Given the description of an element on the screen output the (x, y) to click on. 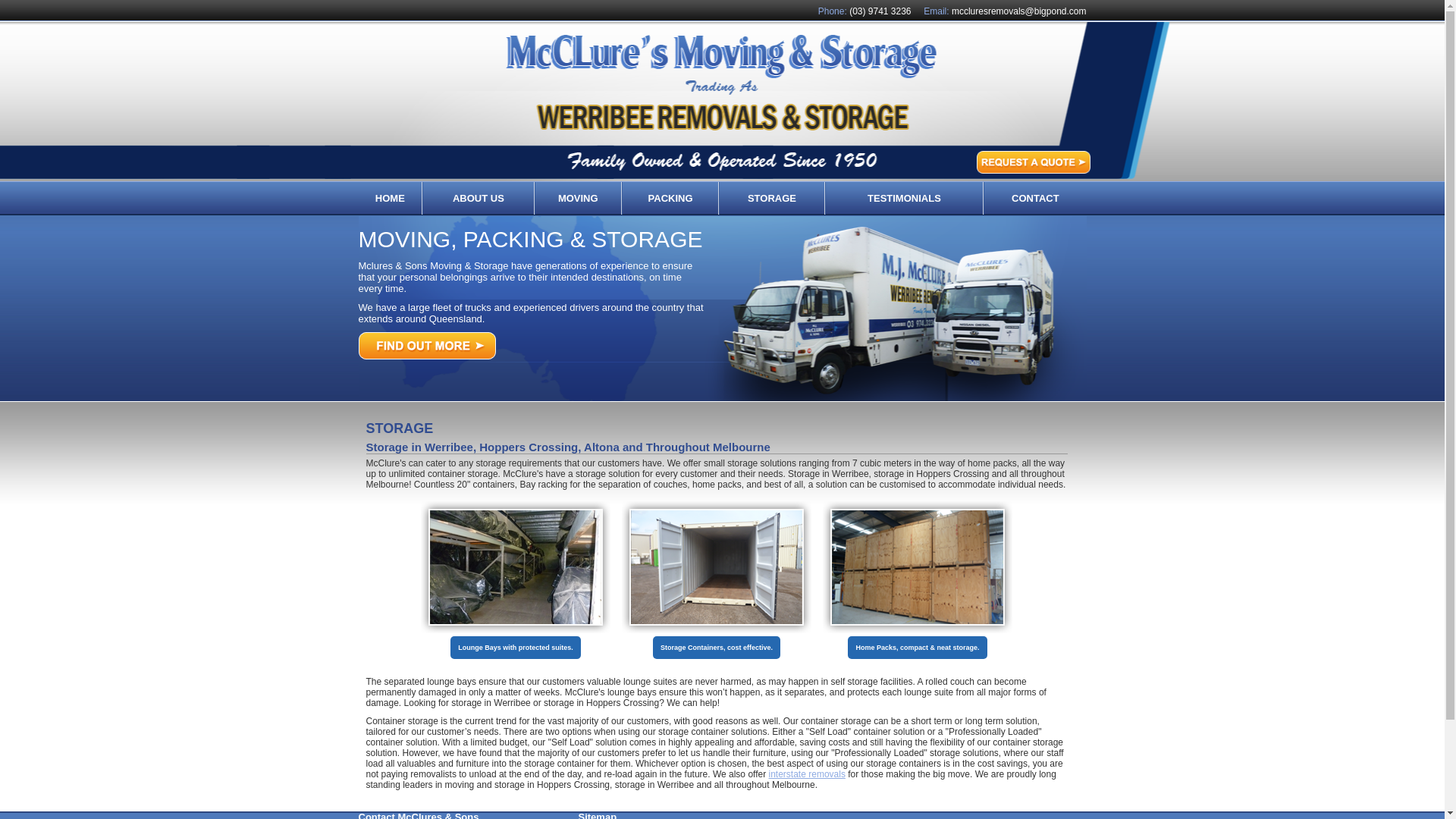
mccluresremovals@bigpond.com Element type: text (1018, 11)
STORAGE Element type: text (771, 197)
CONTACT Element type: text (1035, 197)
PACKING Element type: text (670, 197)
ABOUT US Element type: text (478, 197)
interstate removals Element type: text (806, 773)
(03) 9741 3236 Element type: text (879, 11)
TESTIMONIALS Element type: text (904, 197)
MOVING Element type: text (578, 197)
HOME Element type: text (389, 197)
